Given the description of an element on the screen output the (x, y) to click on. 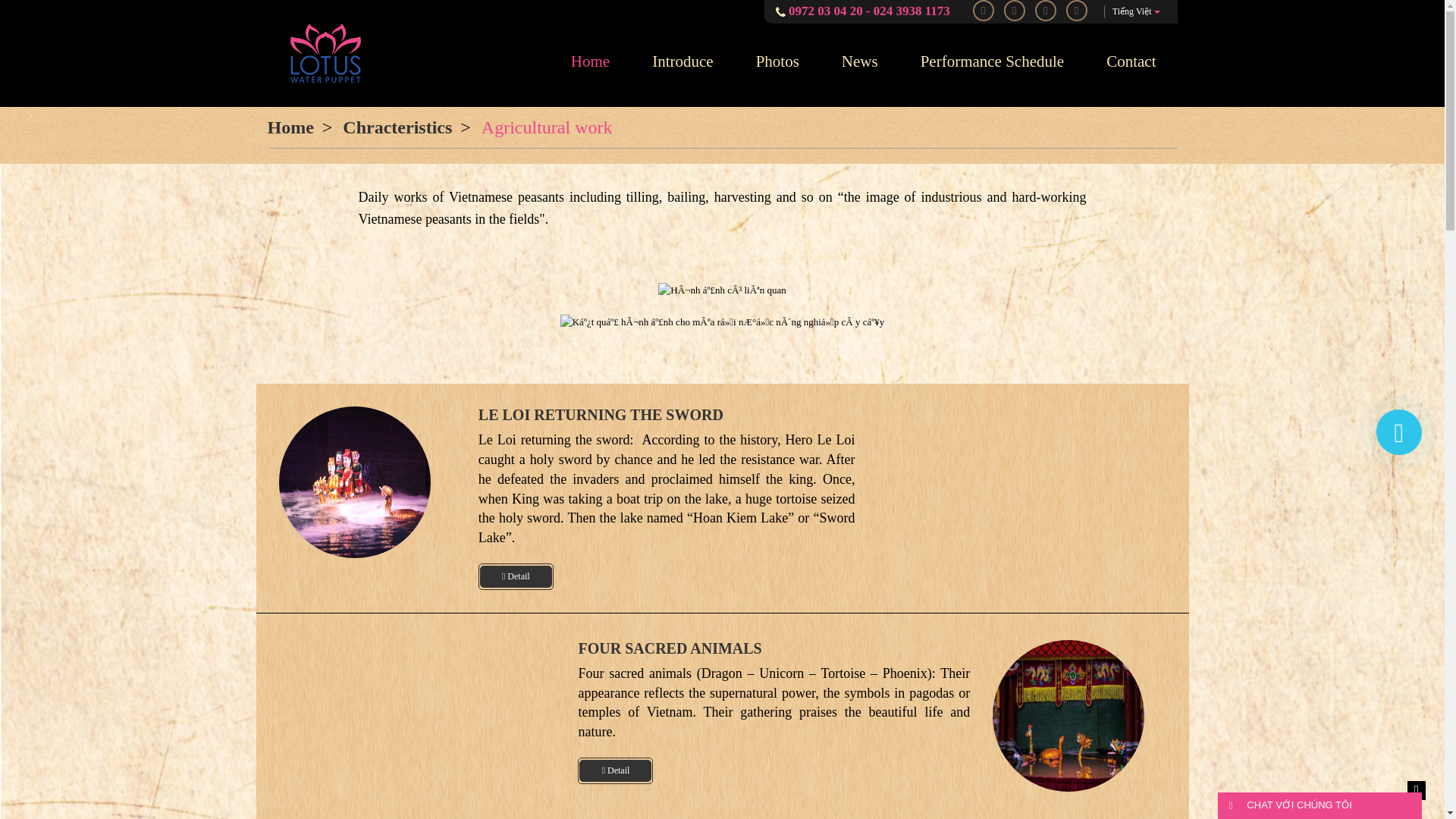
Introduce (682, 61)
0972 03 04 20 - 024 3938 1173 (869, 11)
Photos (777, 61)
Home (590, 61)
TripAdvisor (1076, 10)
FOUR SACRED ANIMALS (669, 647)
Instagram (1014, 10)
Detail (614, 771)
Facebook (983, 10)
Youtube (1046, 10)
LE LOI RETURNING THE SWORD (601, 414)
Chracteristics (396, 127)
Performance Schedule (992, 61)
News (859, 61)
Home (289, 127)
